Given the description of an element on the screen output the (x, y) to click on. 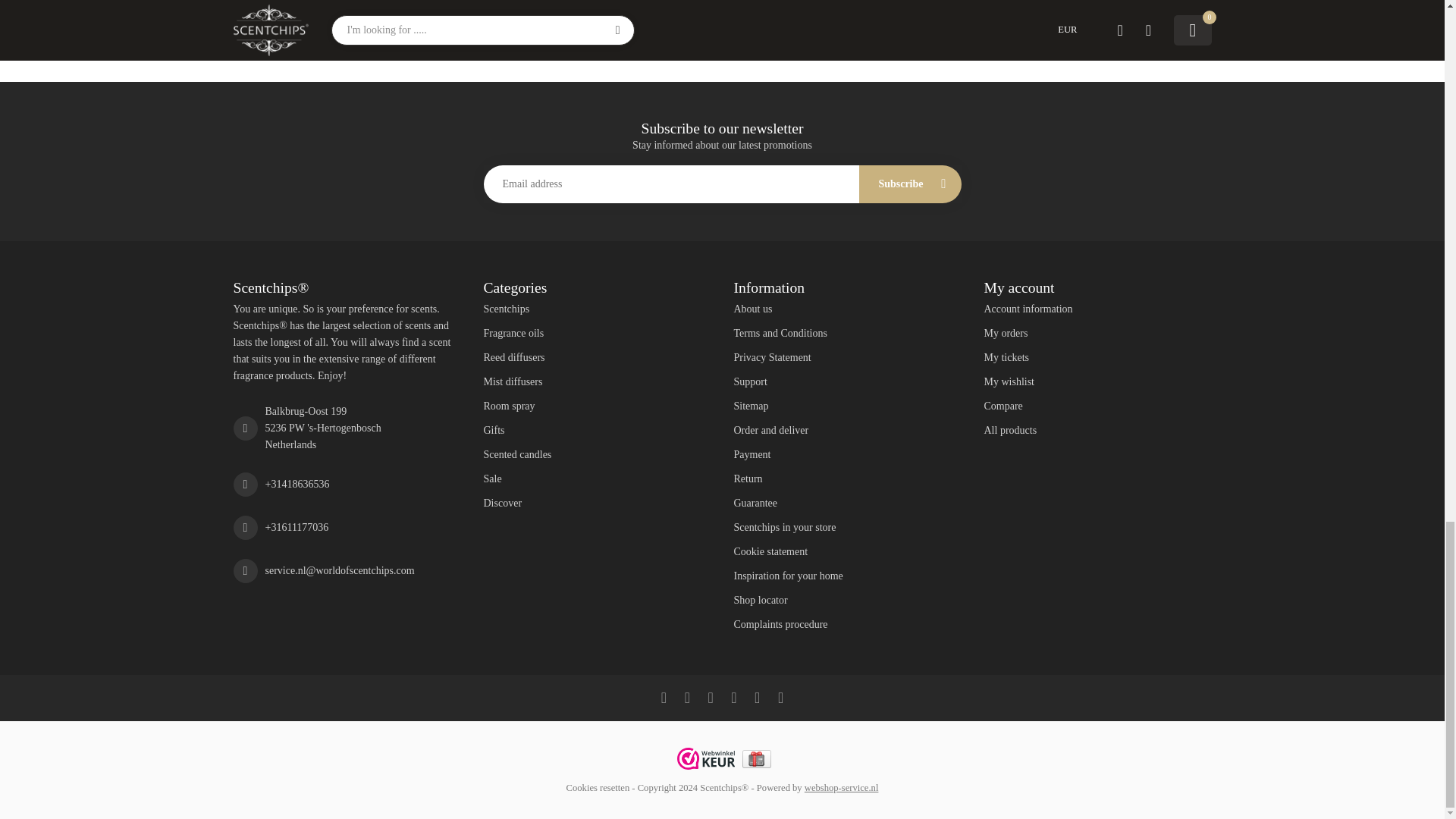
Privacy Statement (846, 357)
Cookie statement (846, 551)
Terms and Conditions (846, 333)
Guarantee (846, 503)
Payment (846, 454)
Return (846, 478)
Order and deliver (846, 430)
About us (846, 309)
Sitemap (846, 405)
Scentchips in your store (846, 527)
